Given the description of an element on the screen output the (x, y) to click on. 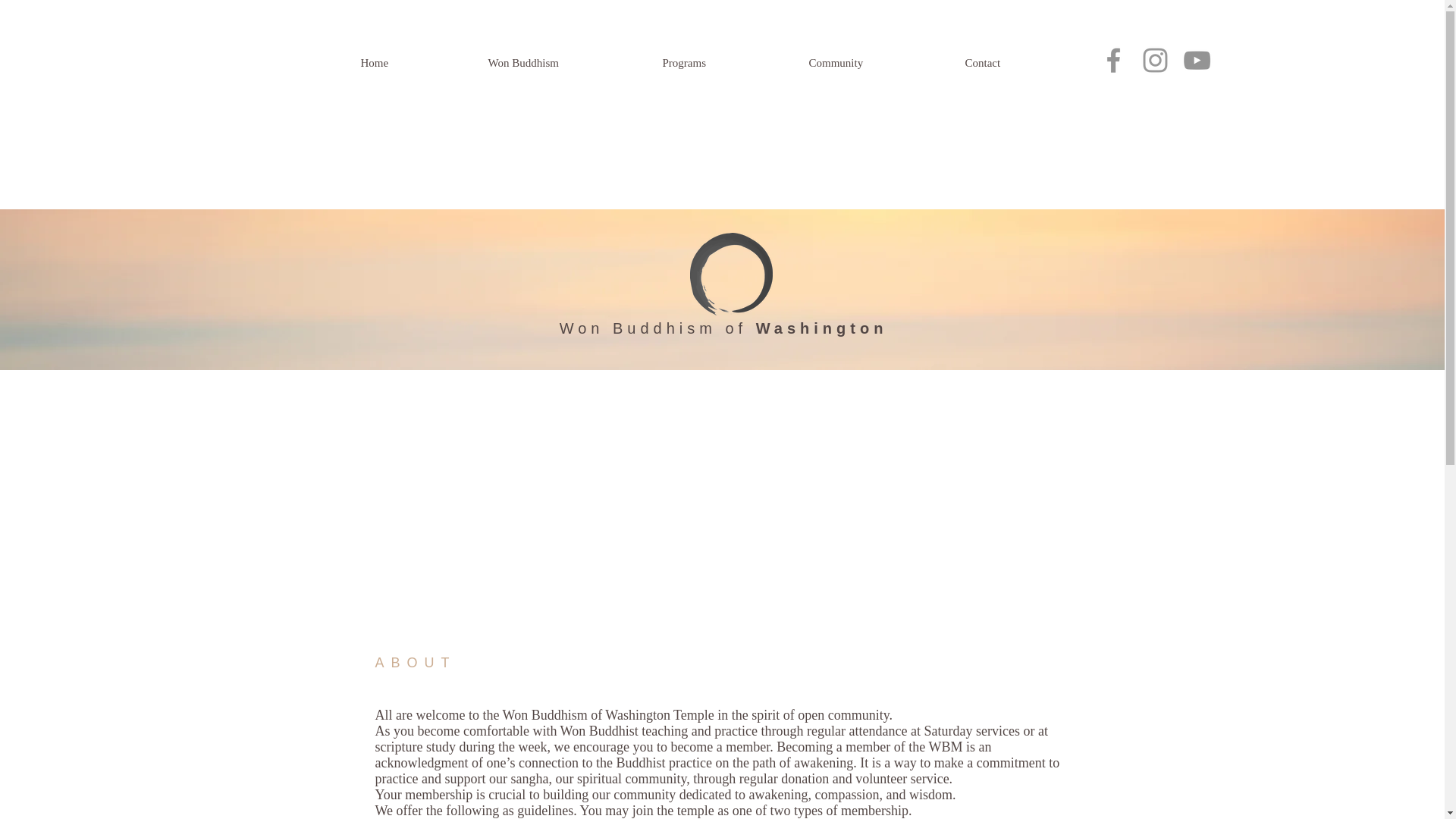
Home (416, 63)
Contact (1024, 63)
Won Buddhism of Washington (723, 328)
